Given the description of an element on the screen output the (x, y) to click on. 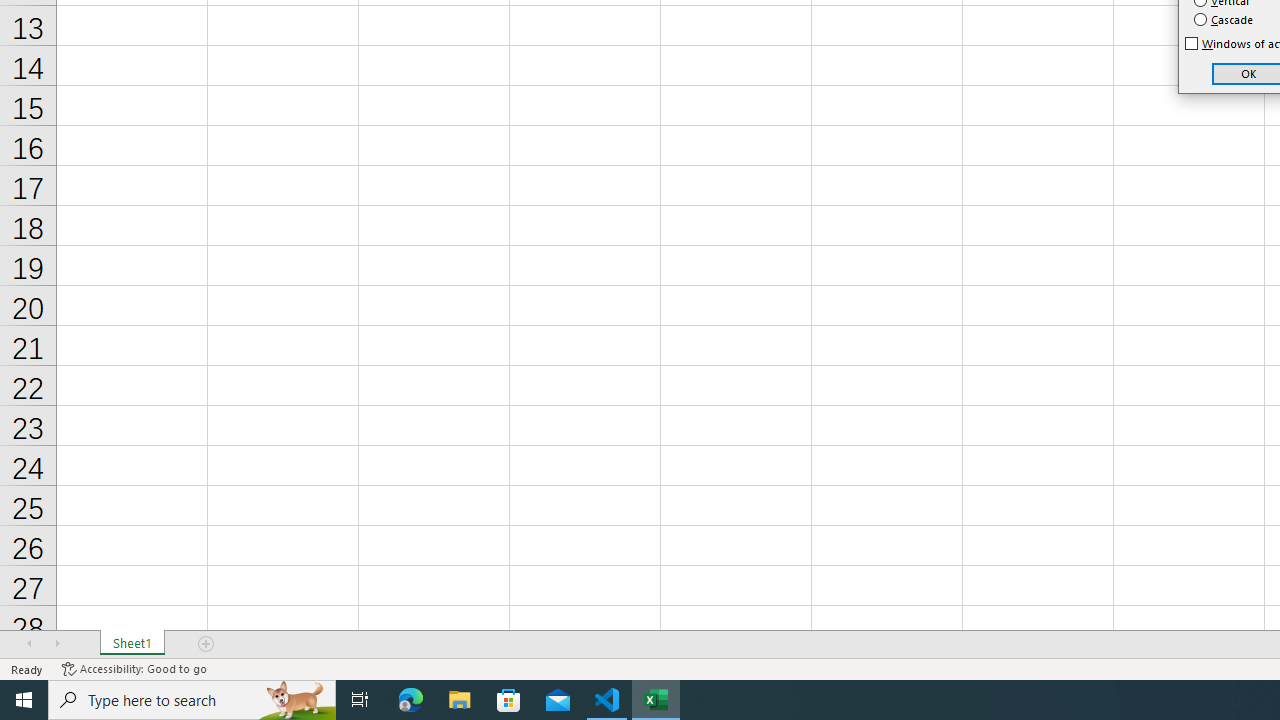
Task View (359, 699)
Visual Studio Code - 1 running window (607, 699)
File Explorer (460, 699)
Microsoft Edge (411, 699)
Start (24, 699)
Type here to search (191, 699)
Microsoft Store (509, 699)
Search highlights icon opens search home window (295, 699)
Excel - 1 running window (656, 699)
